Given the description of an element on the screen output the (x, y) to click on. 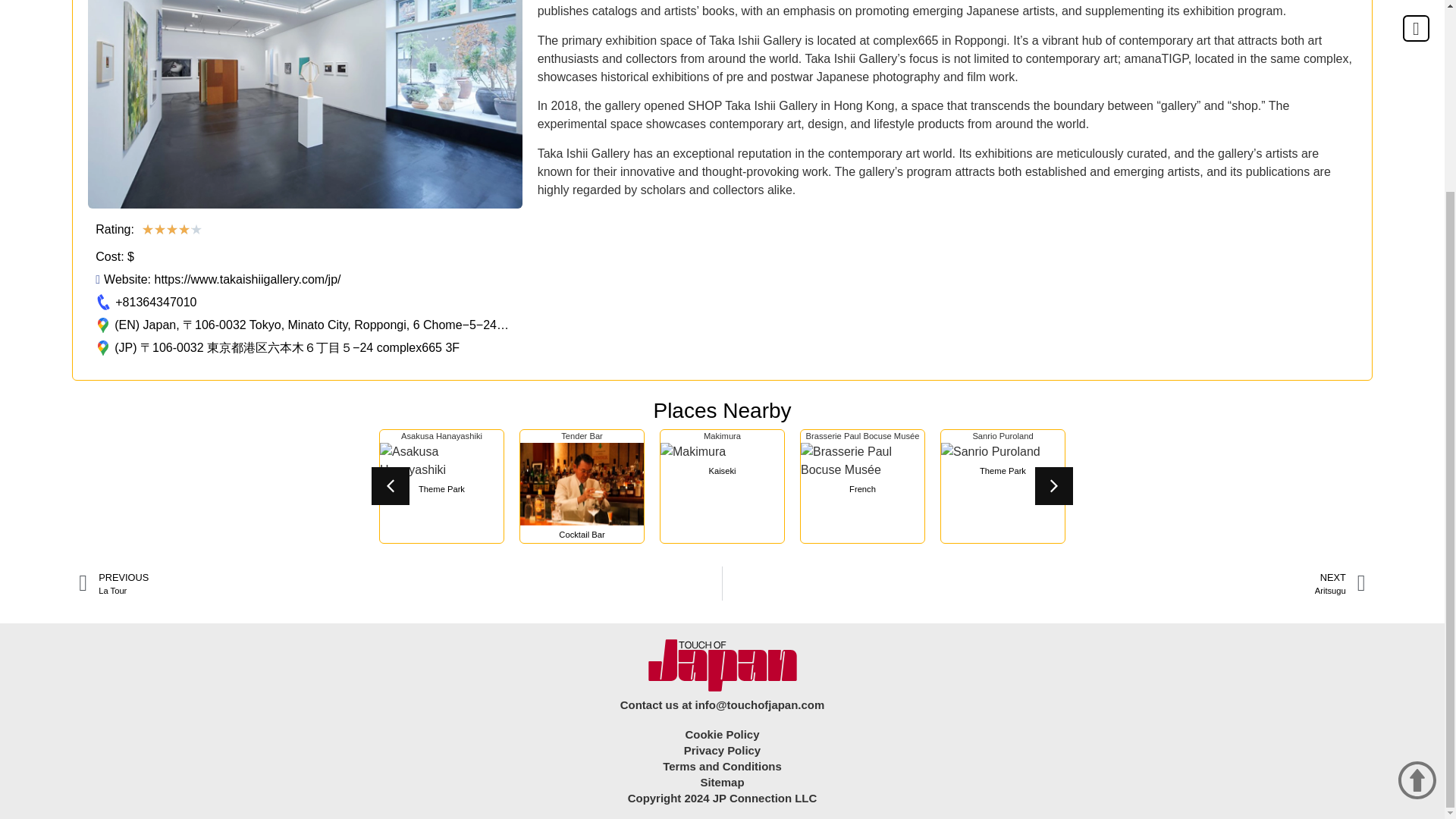
Theme Park (441, 488)
French (862, 488)
Kaiseki (722, 470)
Taka Ishii Gallery 1 (304, 104)
Theme Park (1002, 470)
Cocktail Bar (581, 534)
